Given the description of an element on the screen output the (x, y) to click on. 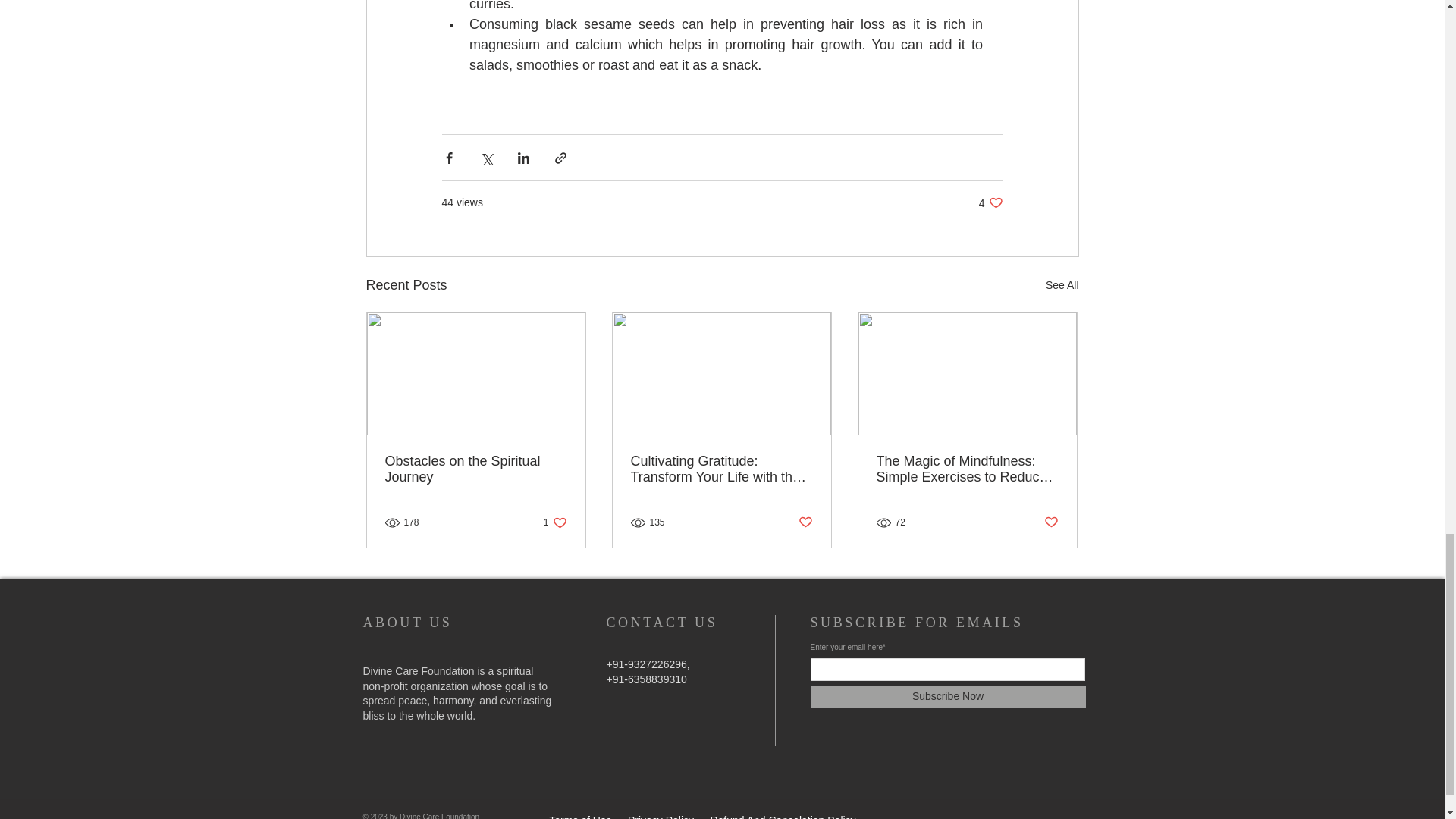
Post not marked as liked (804, 521)
See All (1061, 285)
Refund And Cancelation Policy (783, 816)
Privacy Policy (555, 522)
Post not marked as liked (660, 816)
Terms of Use (1050, 521)
